Given the description of an element on the screen output the (x, y) to click on. 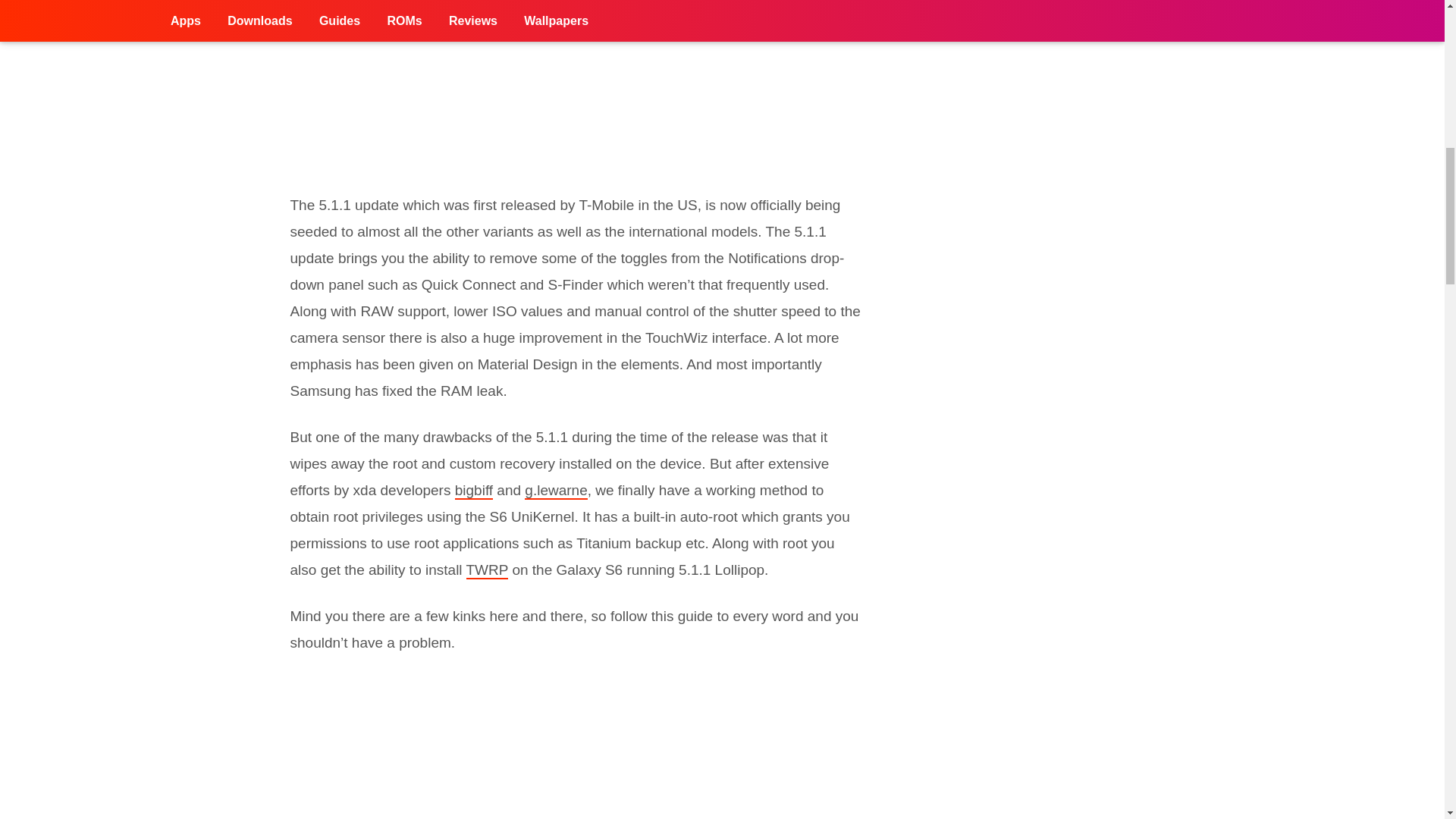
g.lewarne (555, 490)
TWRP (486, 570)
bigbiff (473, 490)
